Given the description of an element on the screen output the (x, y) to click on. 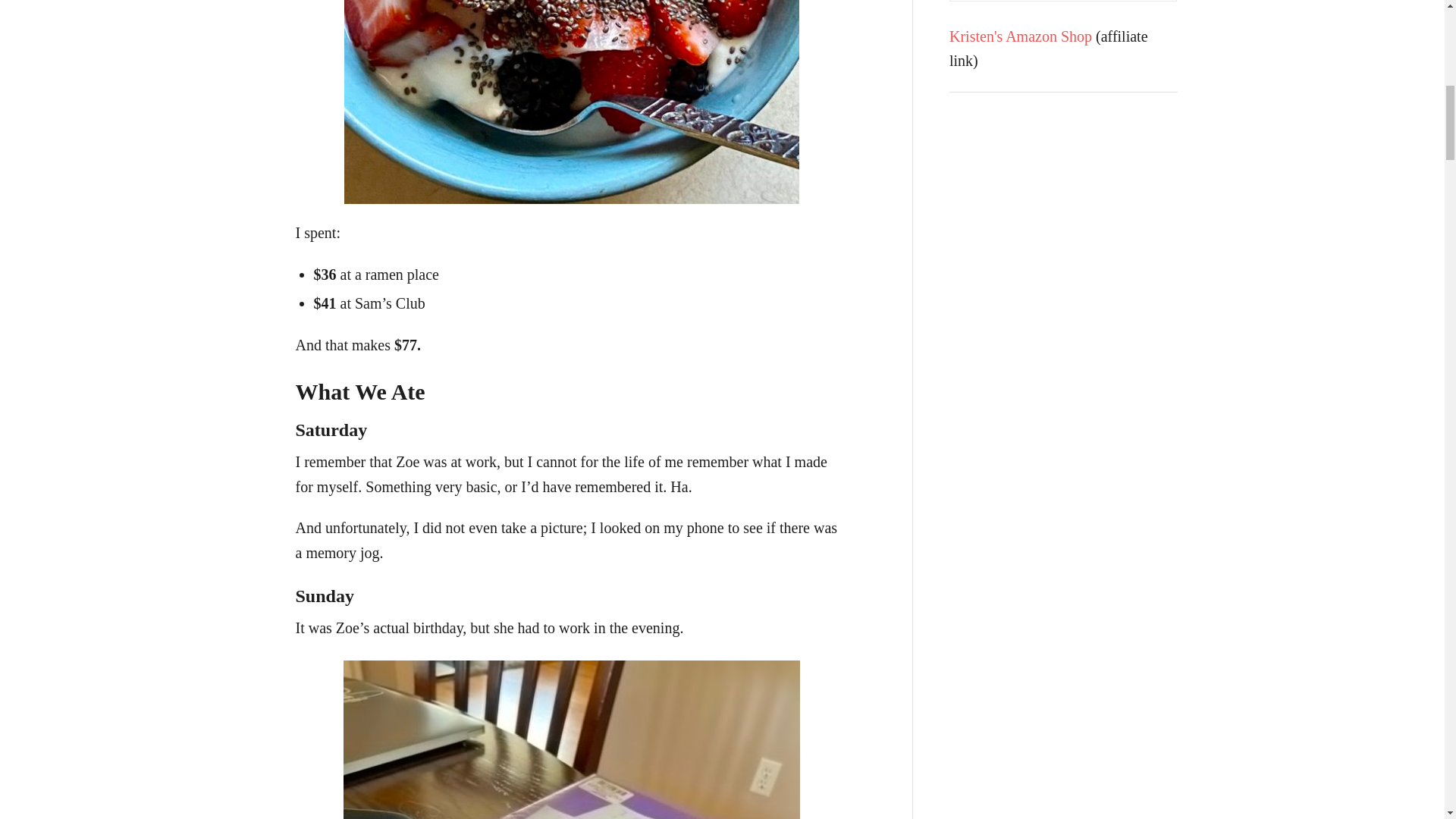
Kristen's Amazon Shop (1020, 35)
